Given the description of an element on the screen output the (x, y) to click on. 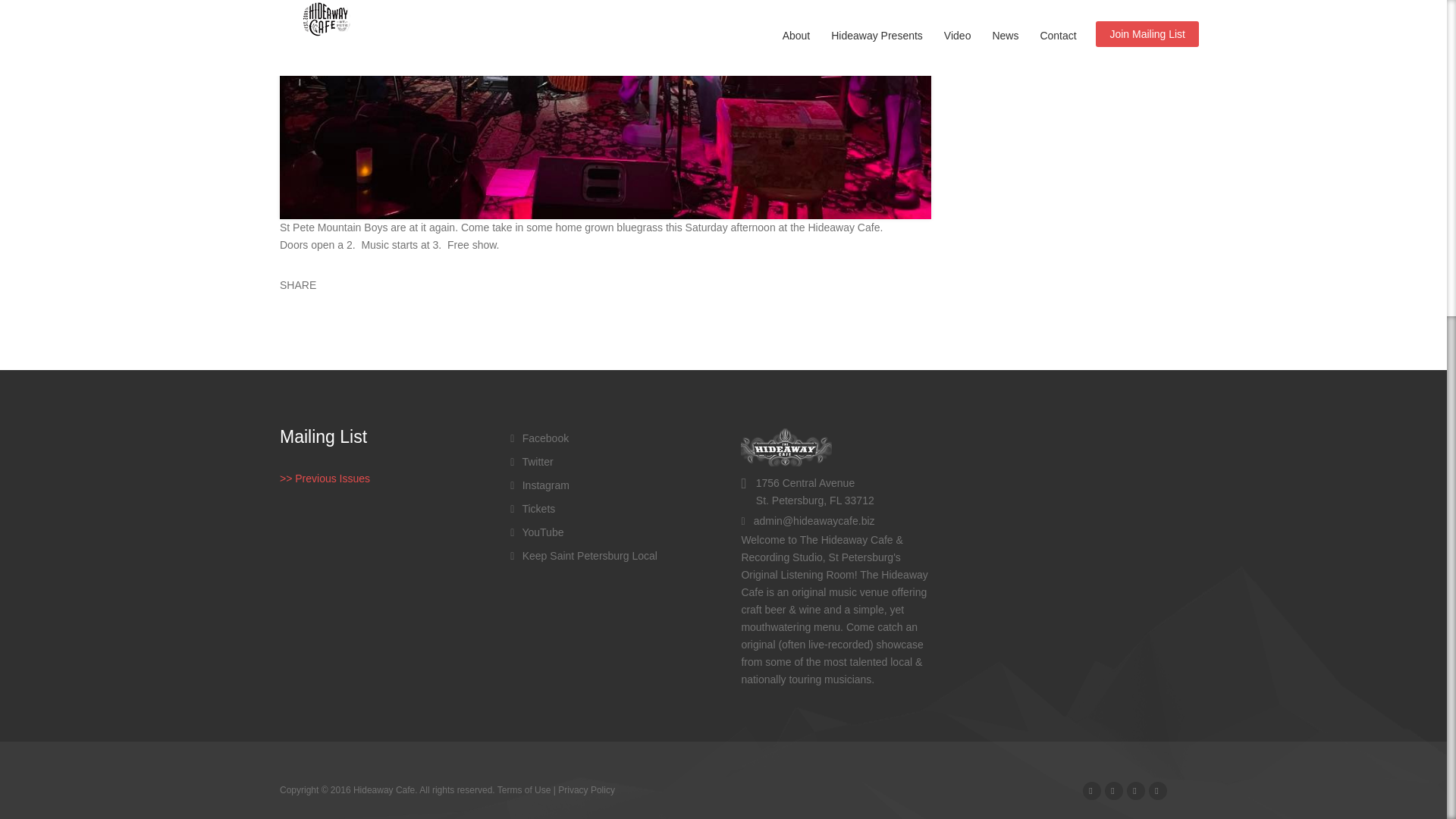
  Twitter (532, 461)
  Tickets (532, 508)
  YouTube (537, 532)
  Facebook (540, 438)
  Keep Saint Petersburg Local (584, 555)
  Instagram (540, 485)
